Given the description of an element on the screen output the (x, y) to click on. 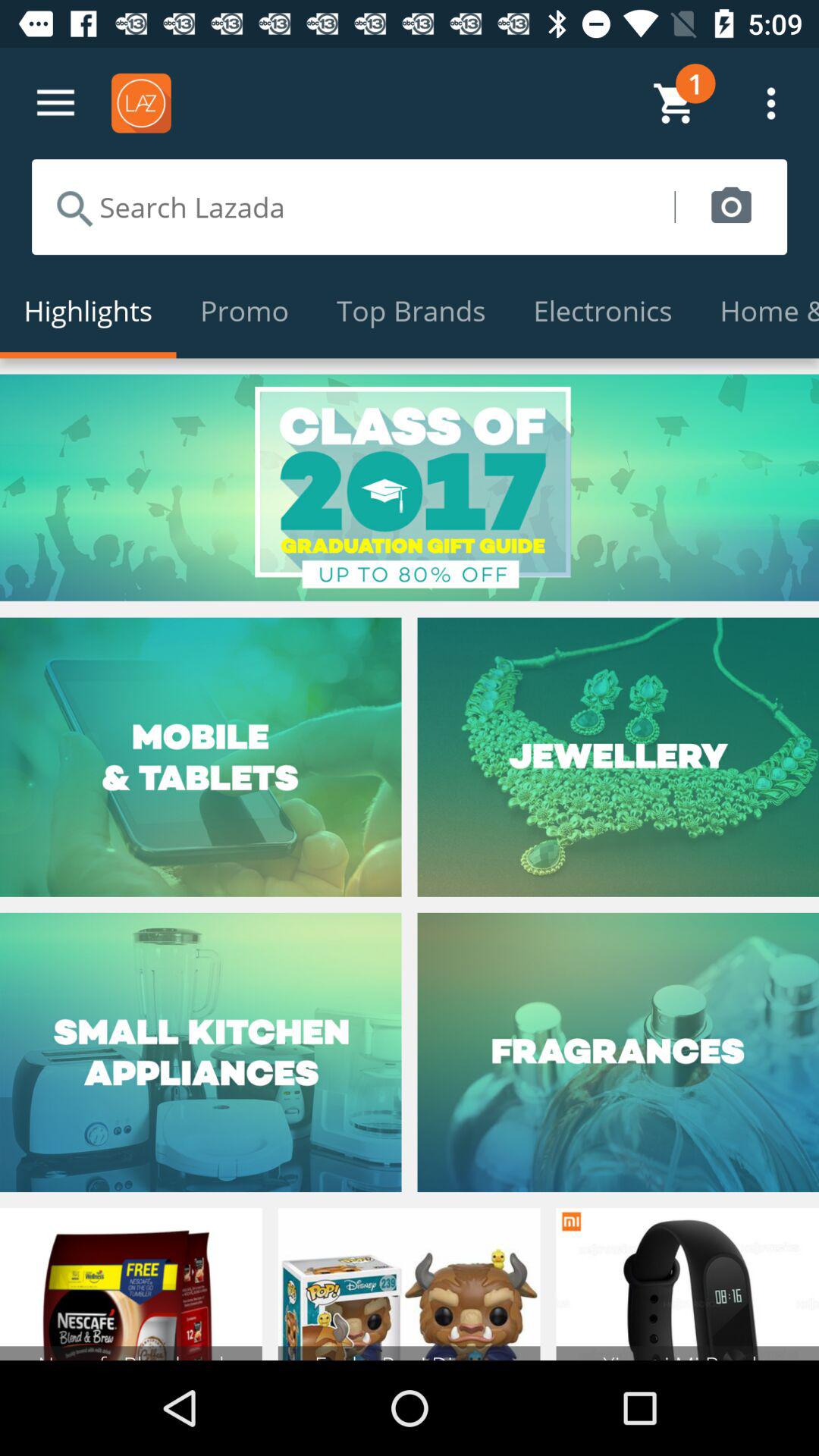
search the site (352, 206)
